Given the description of an element on the screen output the (x, y) to click on. 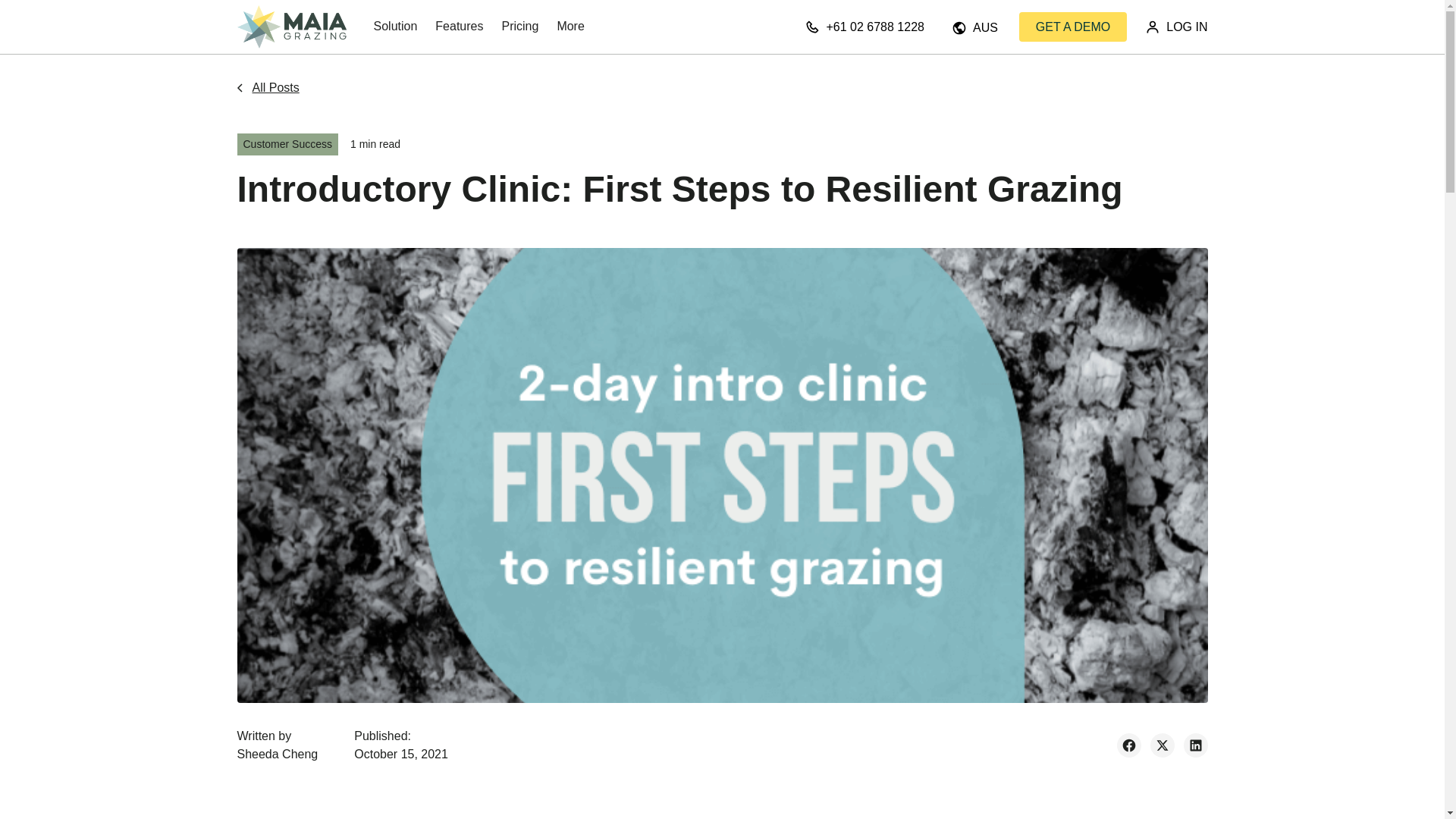
GET A DEMO (1072, 27)
LOG IN (1177, 27)
Solution (395, 26)
All Posts (265, 87)
Features (459, 26)
Pricing (519, 26)
